Given the description of an element on the screen output the (x, y) to click on. 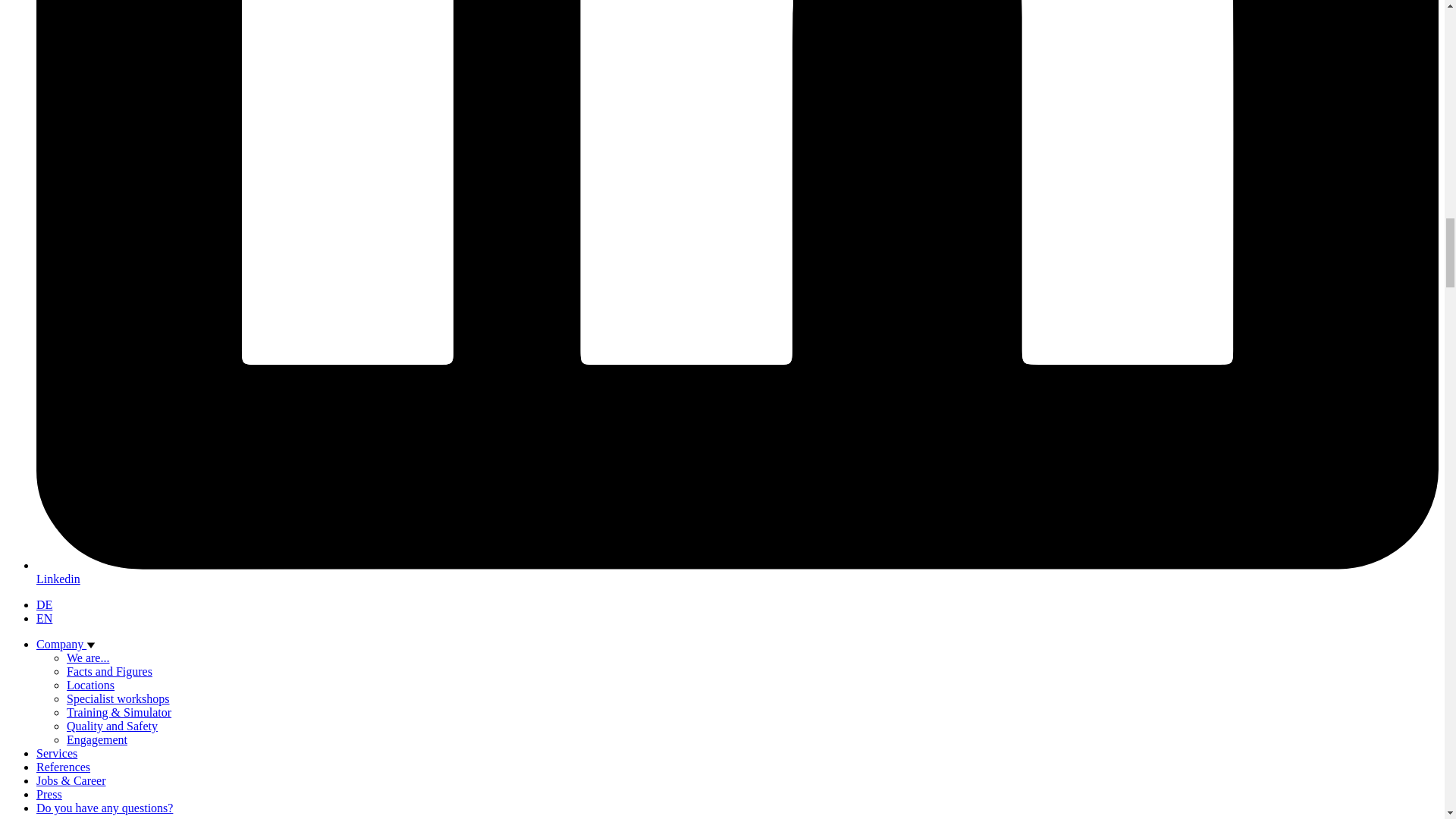
Engagement (97, 739)
EN (44, 617)
Facts and Figures (109, 671)
Specialist workshops (118, 698)
Services (56, 753)
Facts and Figures (109, 671)
DE (44, 604)
References (63, 766)
Quality and Safety (111, 725)
Press (49, 793)
